Given the description of an element on the screen output the (x, y) to click on. 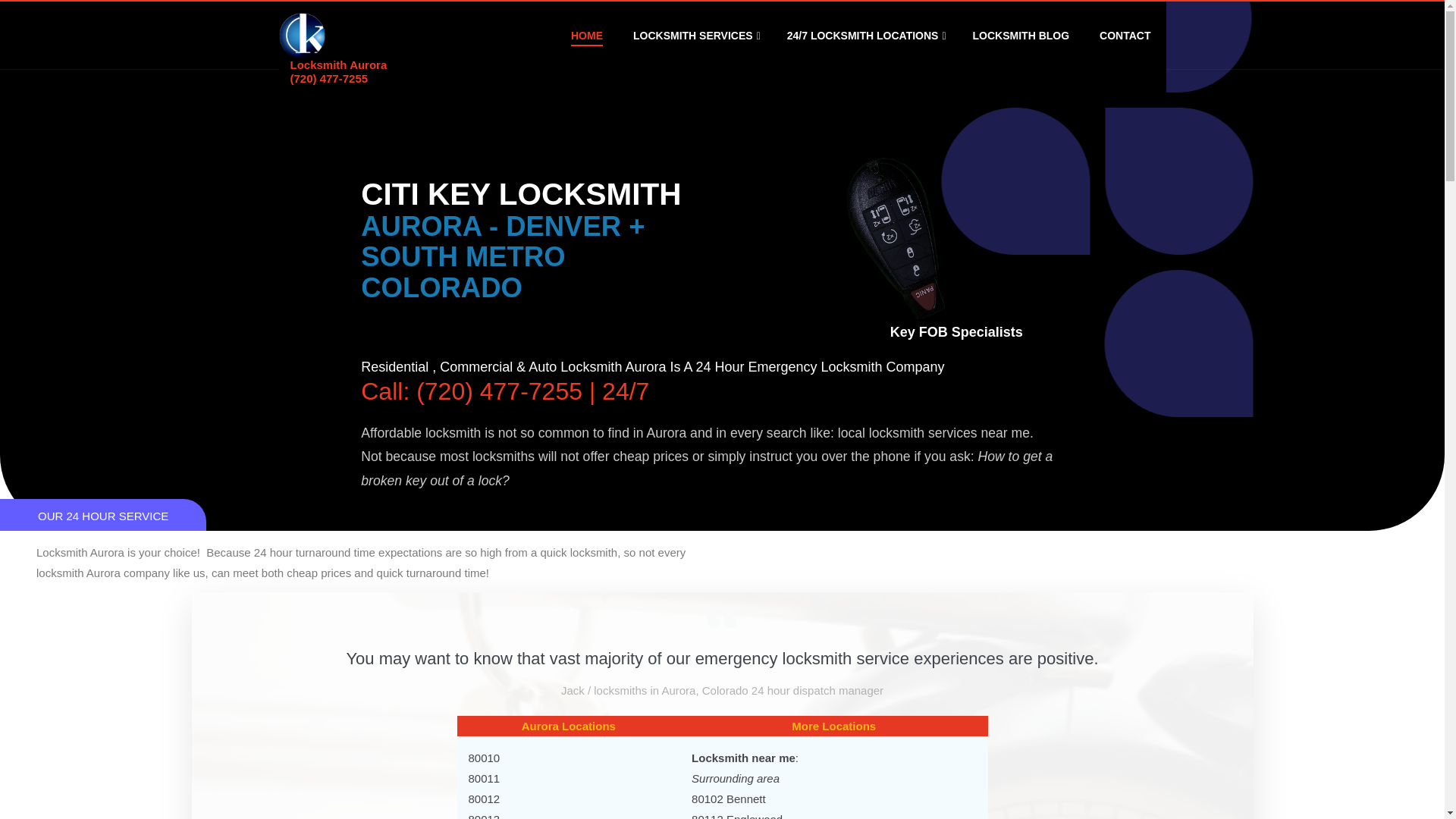
CONTACT (1125, 35)
LOCKSMITH BLOG (1021, 35)
LOCKSMITH SERVICES (694, 35)
HOME (586, 35)
